Given the description of an element on the screen output the (x, y) to click on. 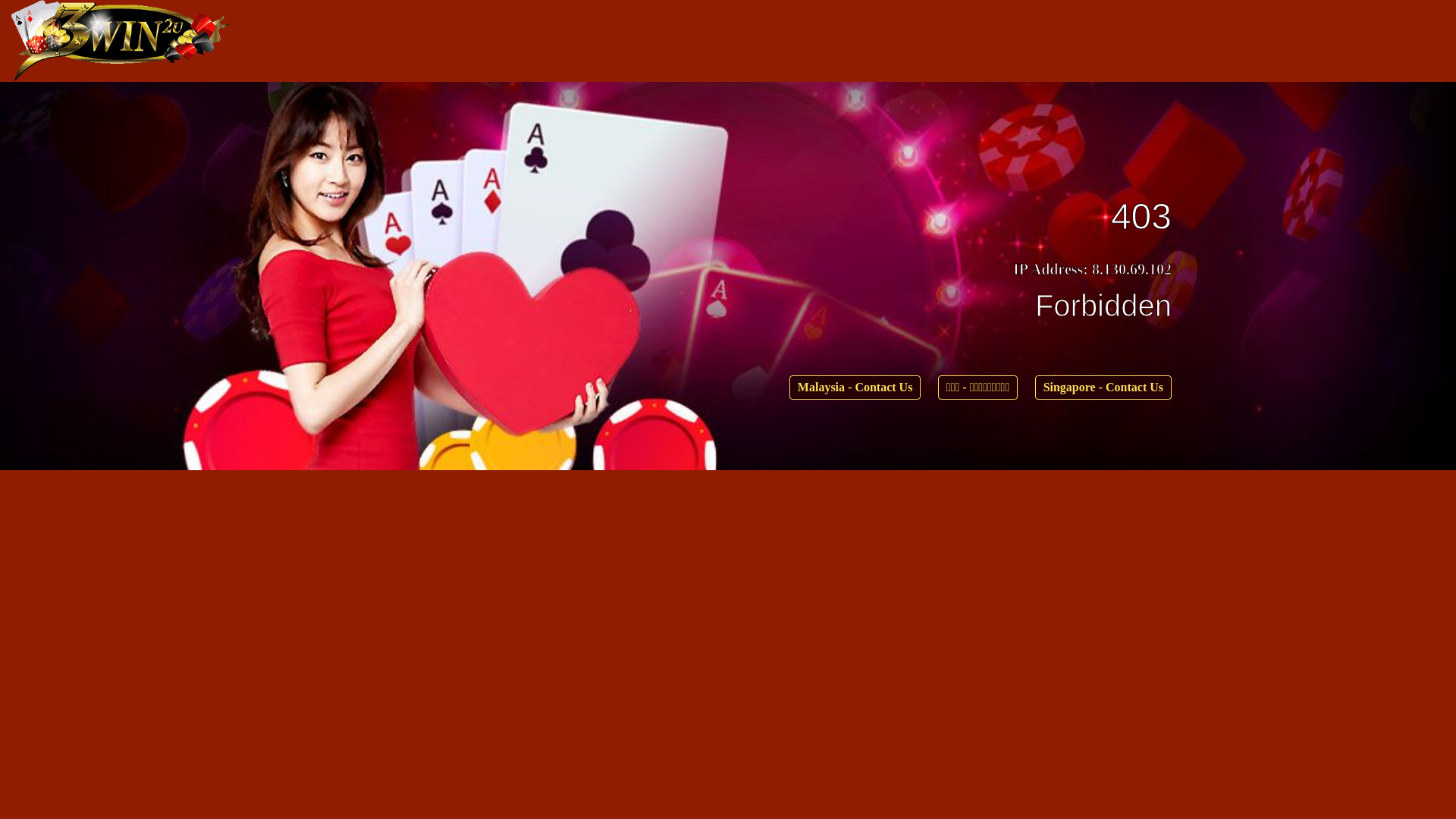
Singapore - Contact Us Element type: text (1103, 387)
Malaysia - Contact Us Element type: text (855, 387)
